Given the description of an element on the screen output the (x, y) to click on. 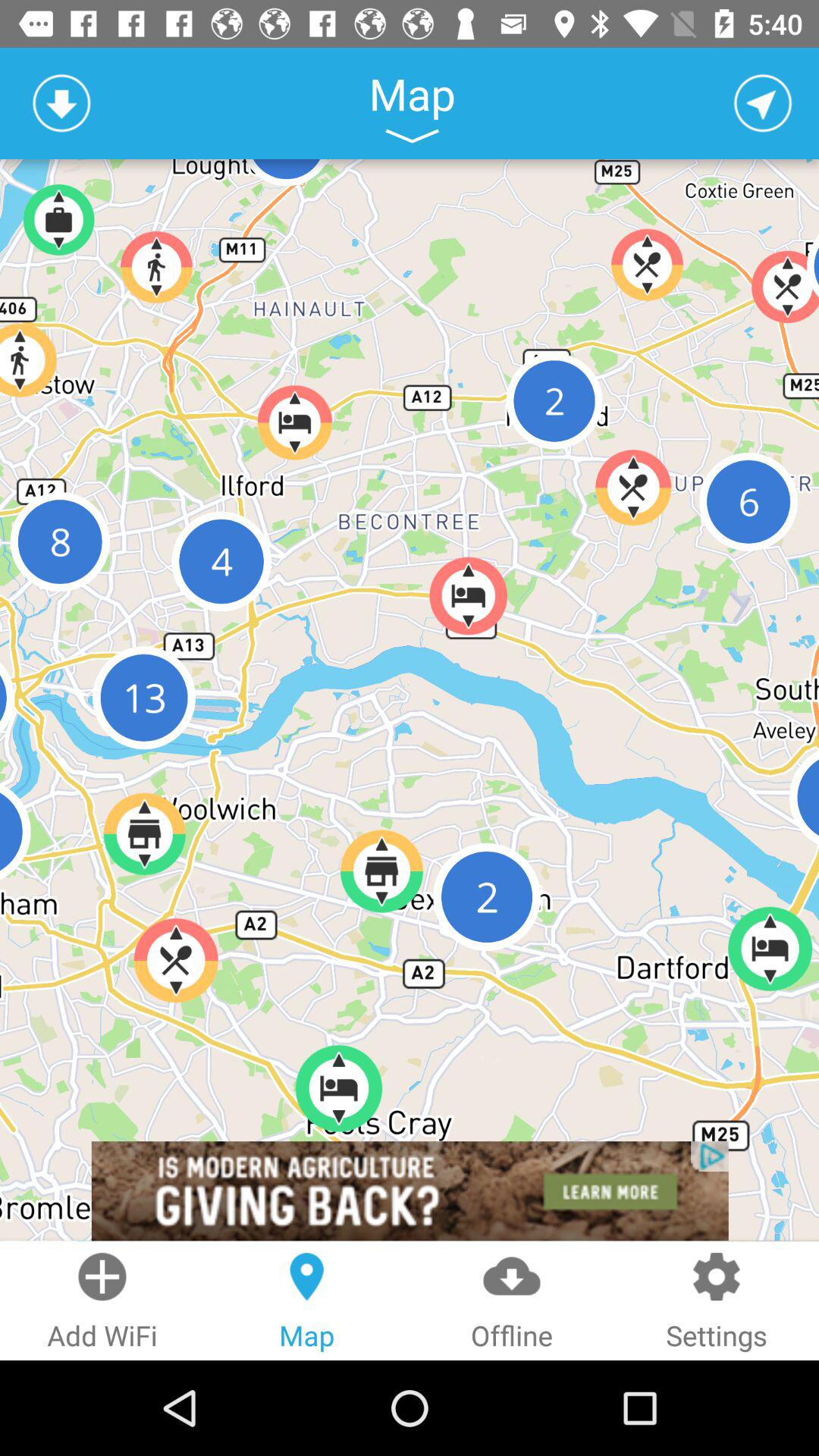
maps drop down icon (412, 136)
